Given the description of an element on the screen output the (x, y) to click on. 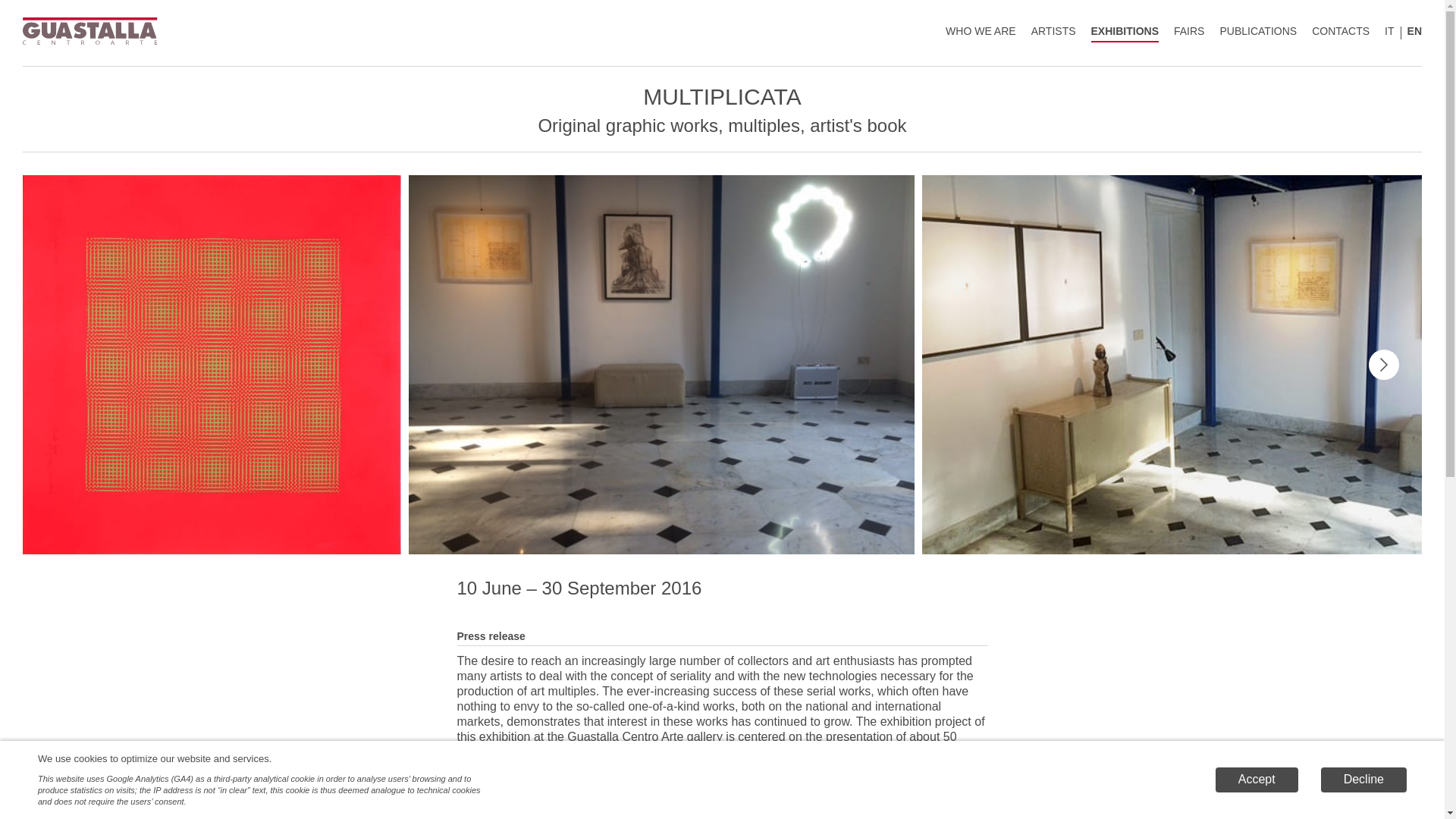
WHO WE ARE (980, 32)
PUBLICATIONS (1258, 32)
FAIRS (1188, 32)
ARTISTS (1052, 32)
CONTACTS (1340, 32)
EN (1414, 32)
EXHIBITIONS (1124, 32)
